Given the description of an element on the screen output the (x, y) to click on. 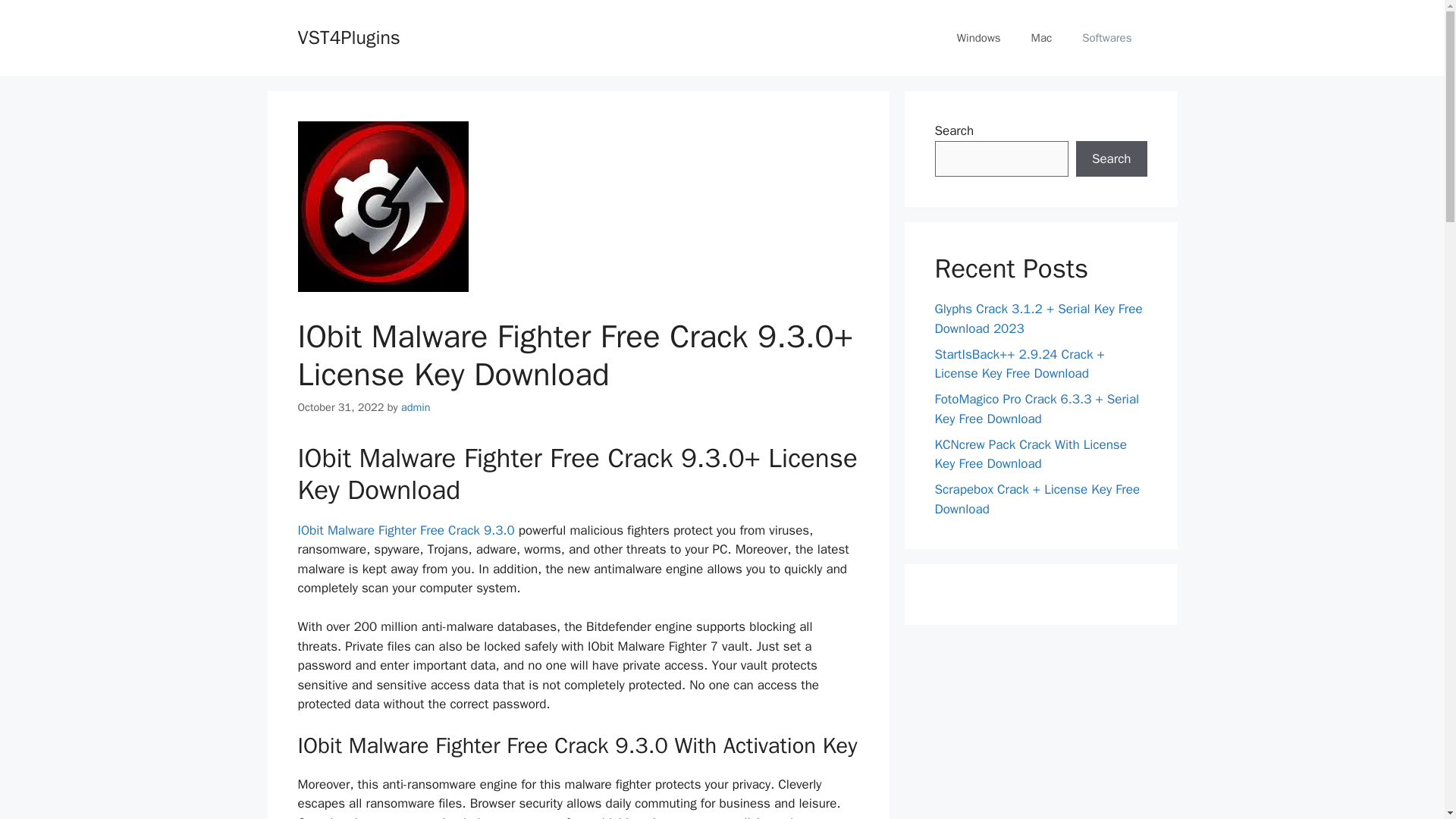
IObit Malware Fighter Free Crack 9.3.0  (407, 530)
Mac (1041, 37)
Search (1111, 158)
Softwares (1107, 37)
View all posts by admin (415, 407)
VST4Plugins (347, 37)
admin (415, 407)
Windows (979, 37)
KCNcrew Pack Crack With License Key Free Download (1029, 454)
